Given the description of an element on the screen output the (x, y) to click on. 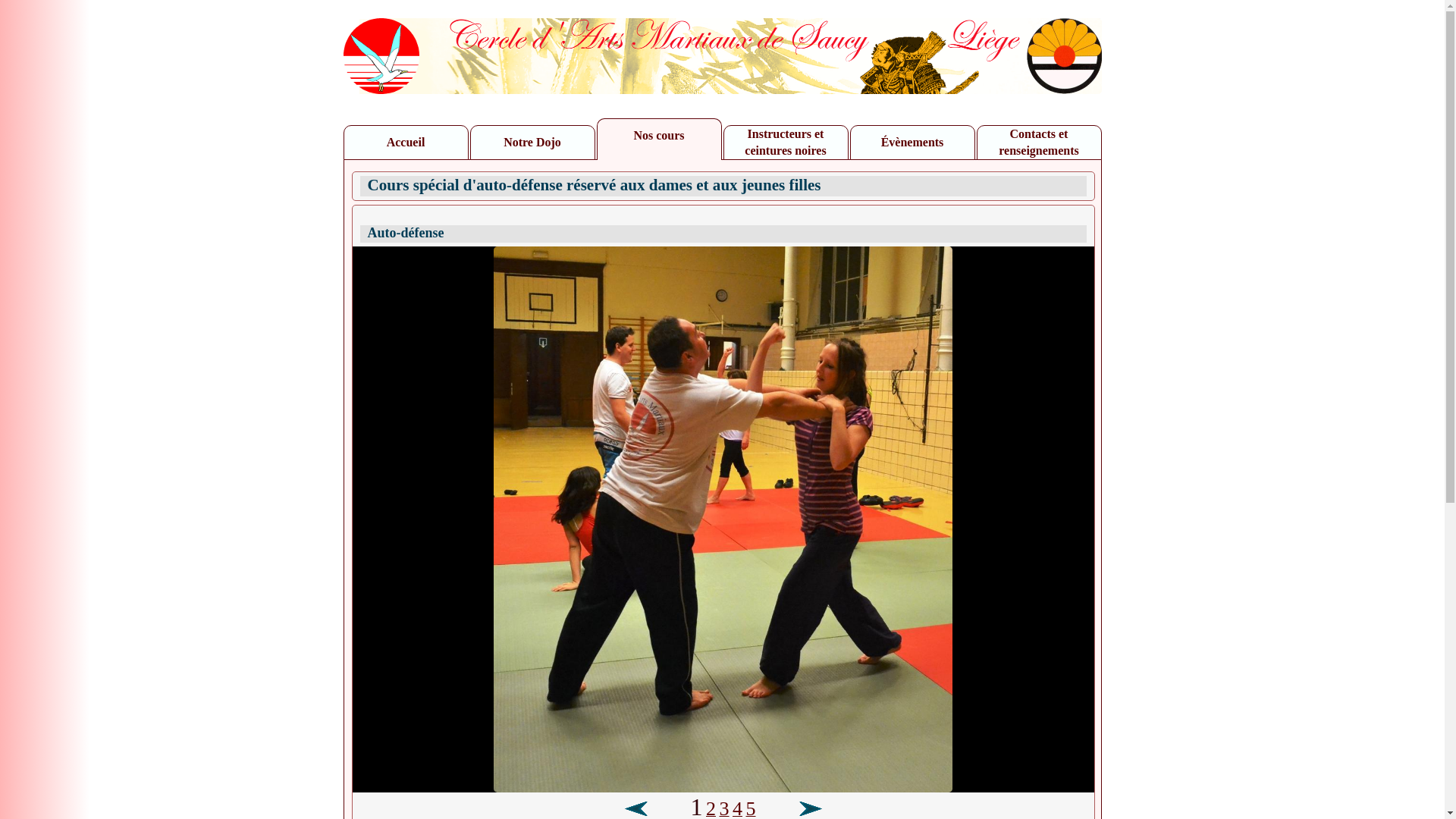
Accueil Element type: text (405, 142)
4 Element type: text (737, 810)
2 Element type: text (710, 810)
suivante Element type: hover (809, 808)
5 Element type: text (751, 810)
Notre Dojo Element type: text (531, 142)
Nos cours Element type: text (659, 139)
3 Element type: text (723, 810)
cours_auto-defense_dsc_0426.jpg Element type: hover (722, 519)
Instructeurs et
ceintures noires Element type: text (785, 142)
images/big/cours_auto-defense_dsc_0426.jpg Element type: hover (722, 787)
Contacts et
renseignements Element type: text (1038, 142)
